Given the description of an element on the screen output the (x, y) to click on. 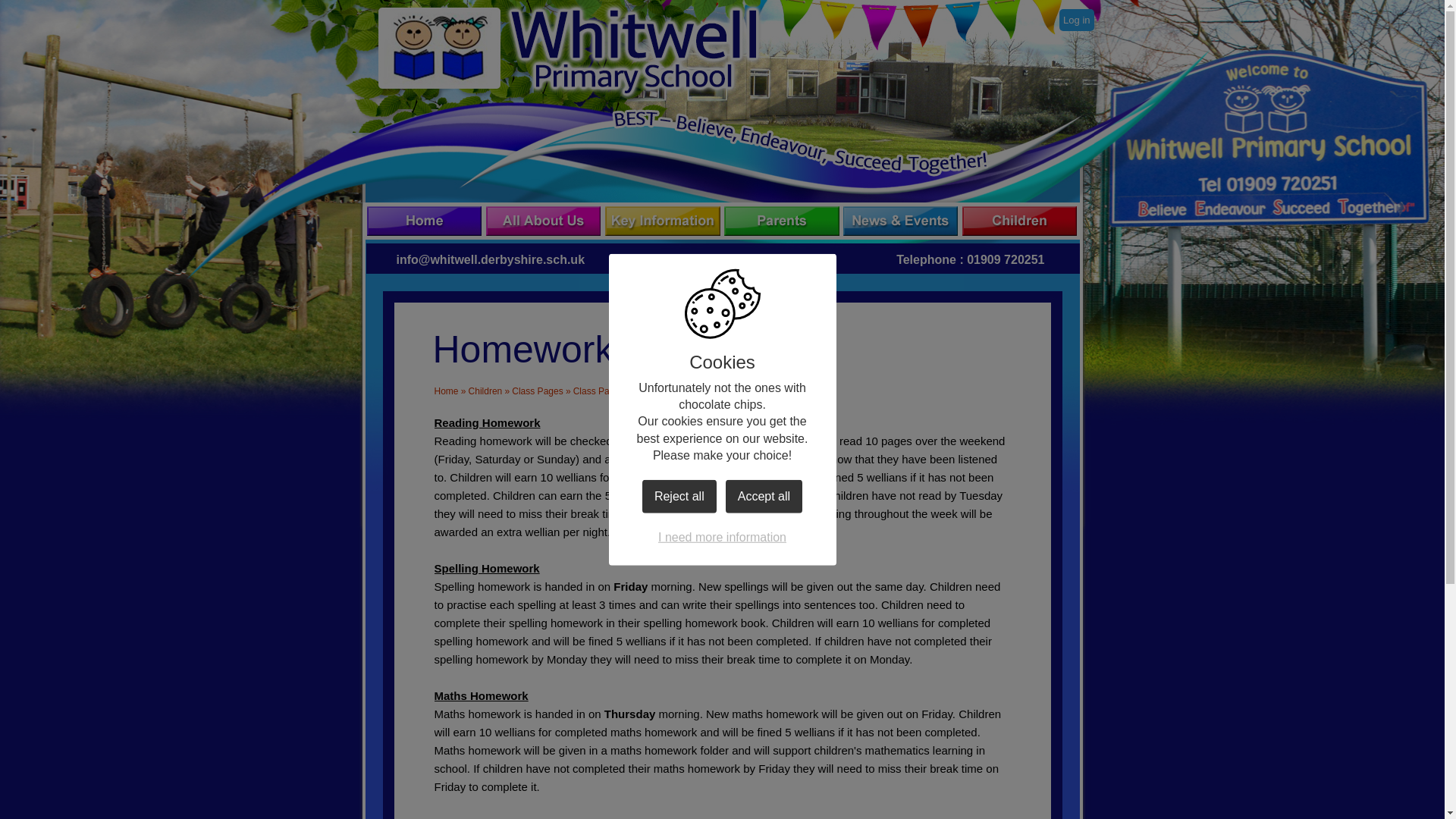
Class Pages (537, 390)
Key Information (664, 220)
Home Page (567, 52)
Class Pages Archive: 2022 - 2023 (641, 390)
Home (445, 390)
Home (426, 220)
All About Us (544, 220)
Log in (1076, 20)
Home Page (567, 52)
Miss White (742, 390)
Parents (783, 220)
01909 720251 (1004, 259)
Children (485, 390)
Homework (795, 390)
